Given the description of an element on the screen output the (x, y) to click on. 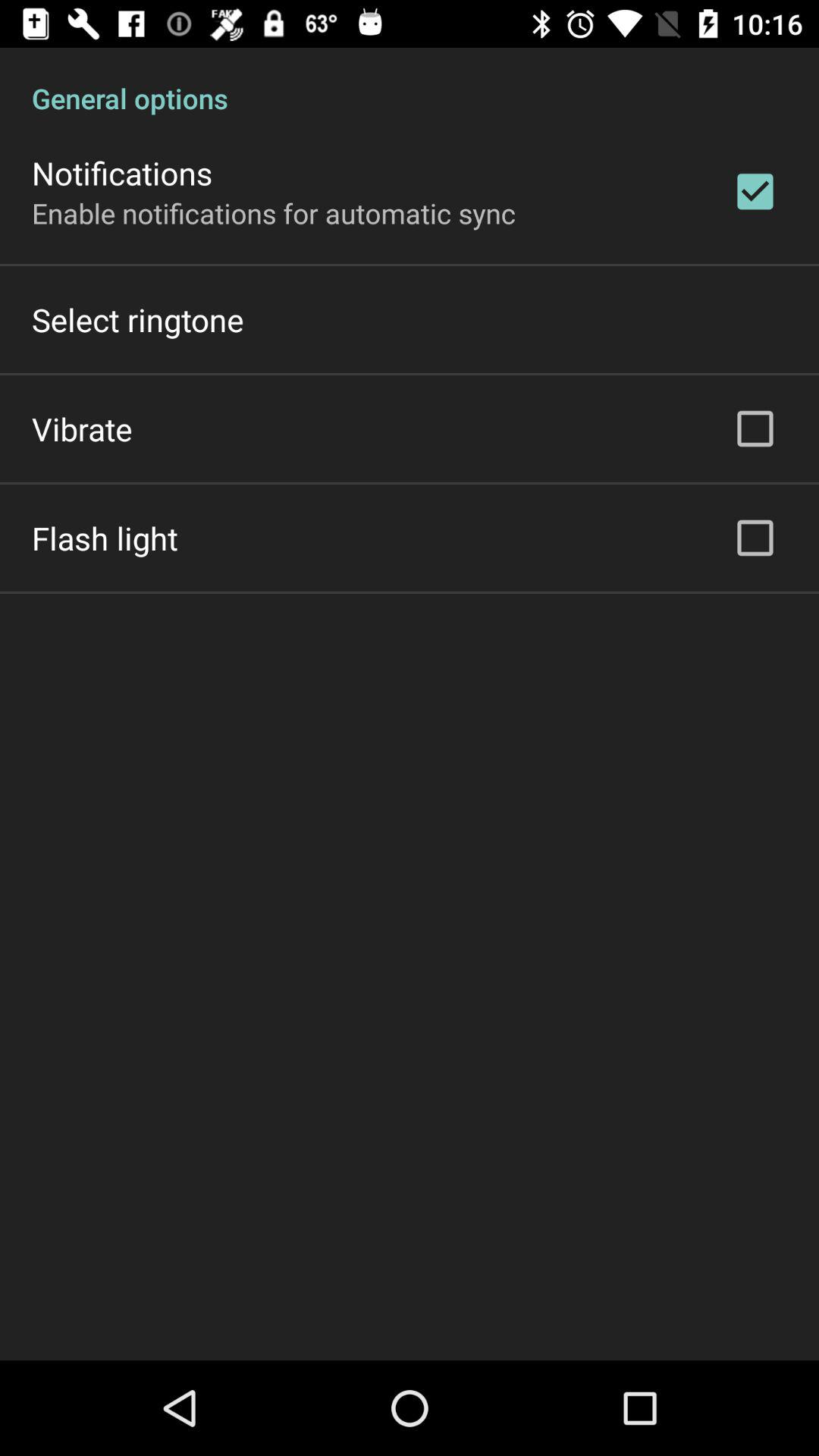
swipe to flash light item (104, 537)
